Given the description of an element on the screen output the (x, y) to click on. 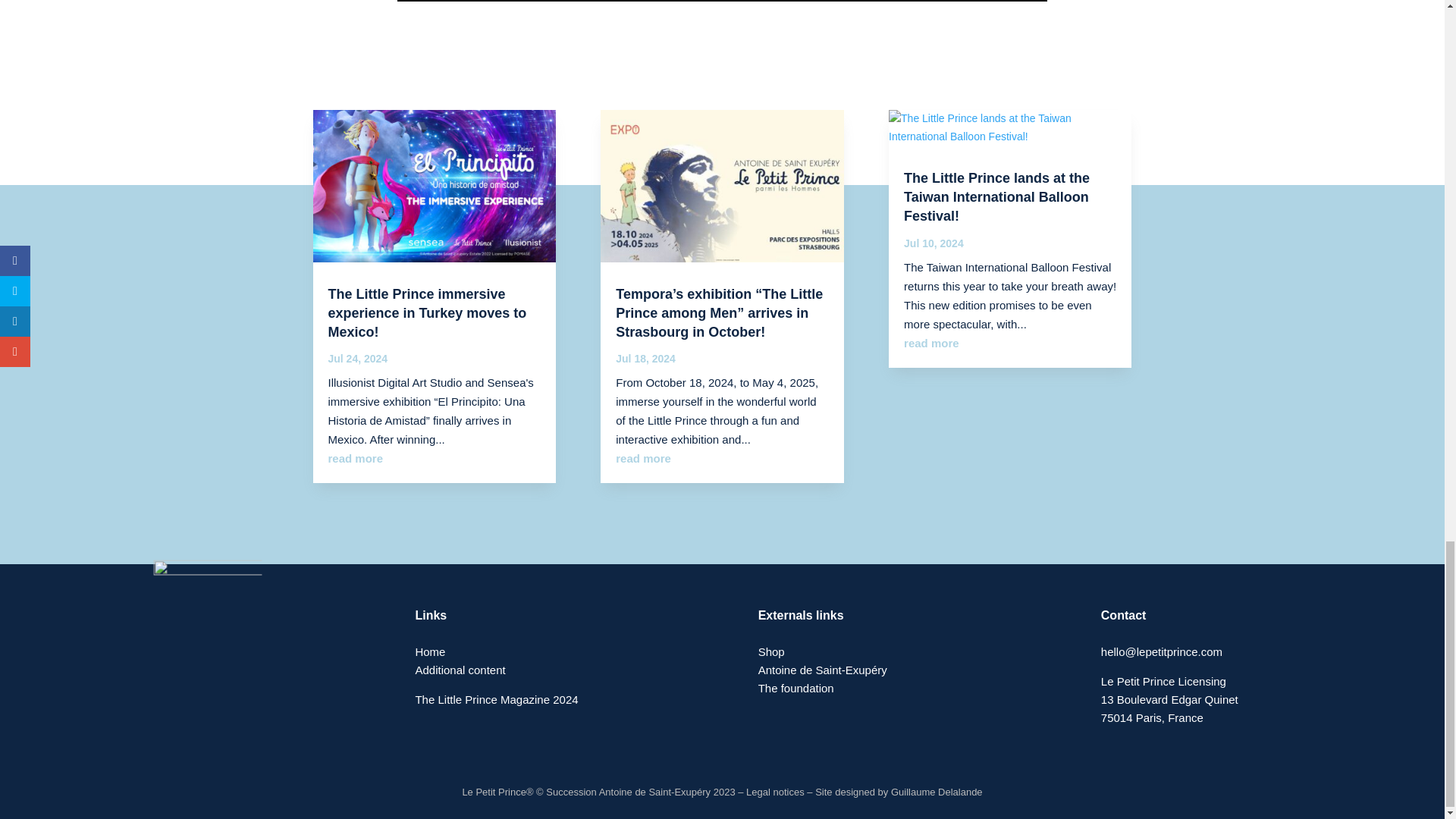
read more (931, 342)
read more (643, 458)
read more (354, 458)
